Given the description of an element on the screen output the (x, y) to click on. 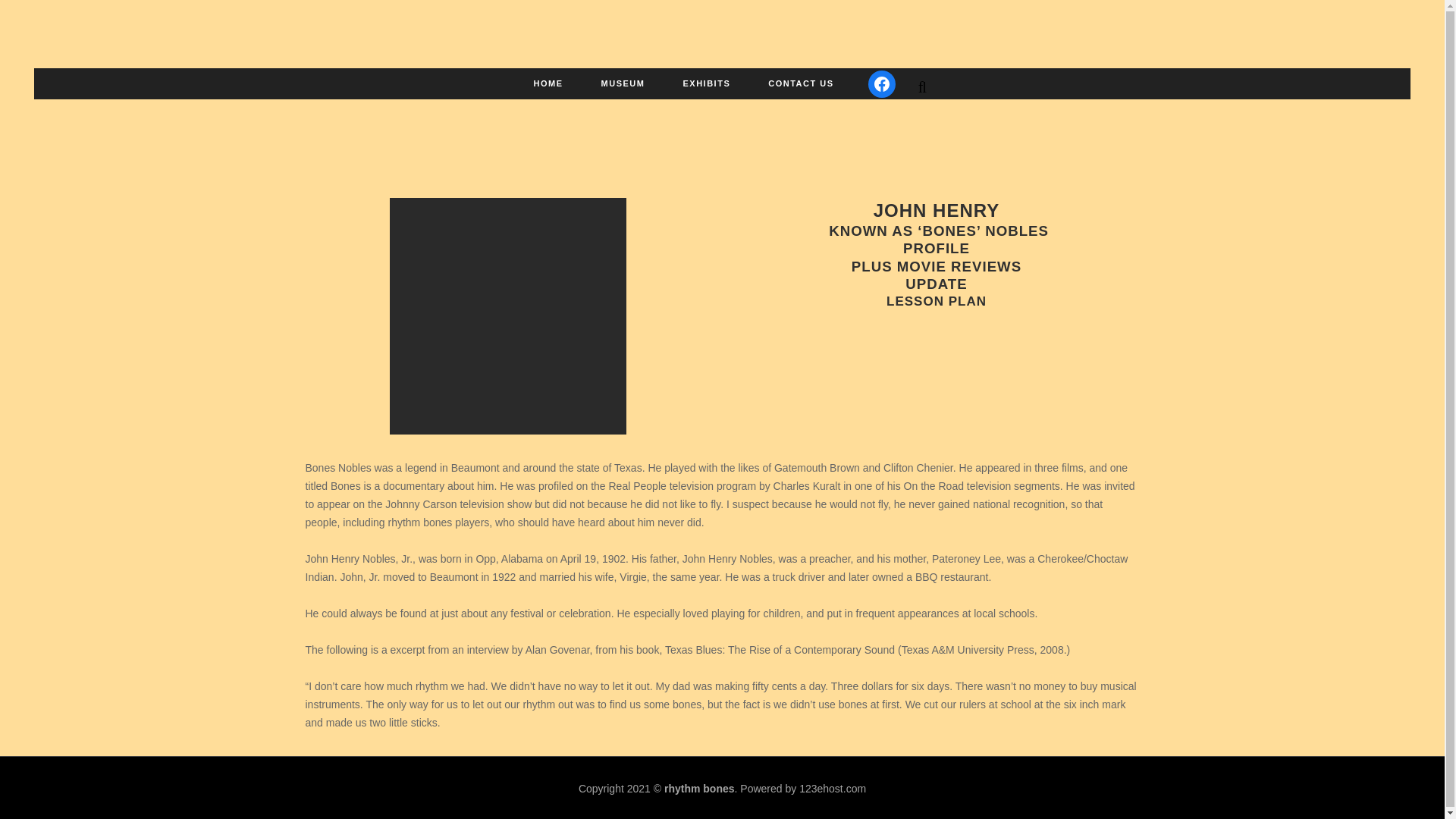
Facebook (881, 83)
UPDATE (935, 283)
EXHIBITS (706, 83)
PROFILE (935, 248)
CONTACT US (800, 83)
HOME (548, 83)
MUSEUM (622, 83)
LESSON PLAN (936, 301)
